Given the description of an element on the screen output the (x, y) to click on. 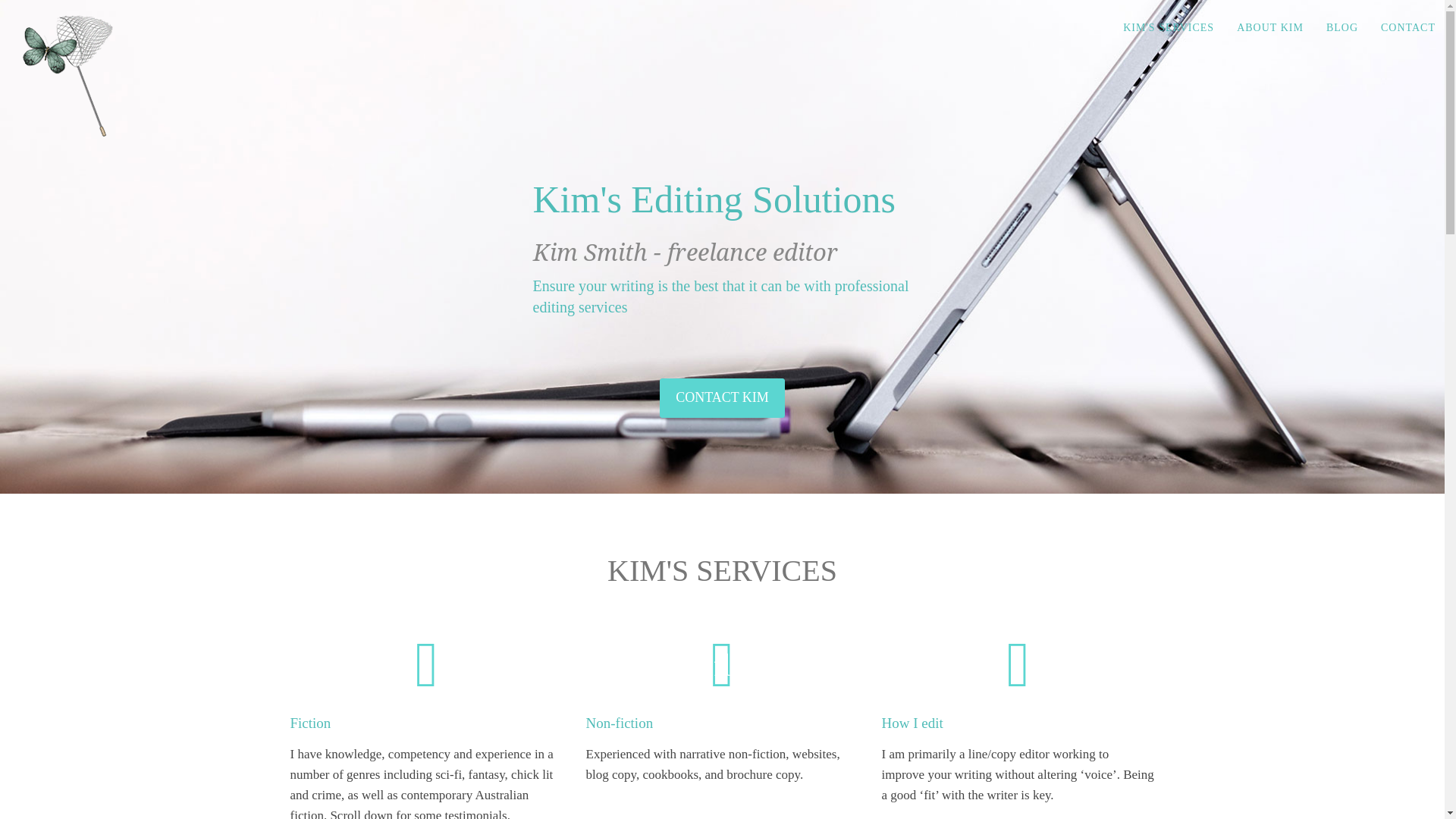
BLOG Element type: text (1341, 28)
ABOUT KIM Element type: text (1269, 28)
CONTACT KIM Element type: text (721, 397)
KIM'S SERVICES Element type: text (1168, 28)
CONTACT Element type: text (1407, 28)
